Given the description of an element on the screen output the (x, y) to click on. 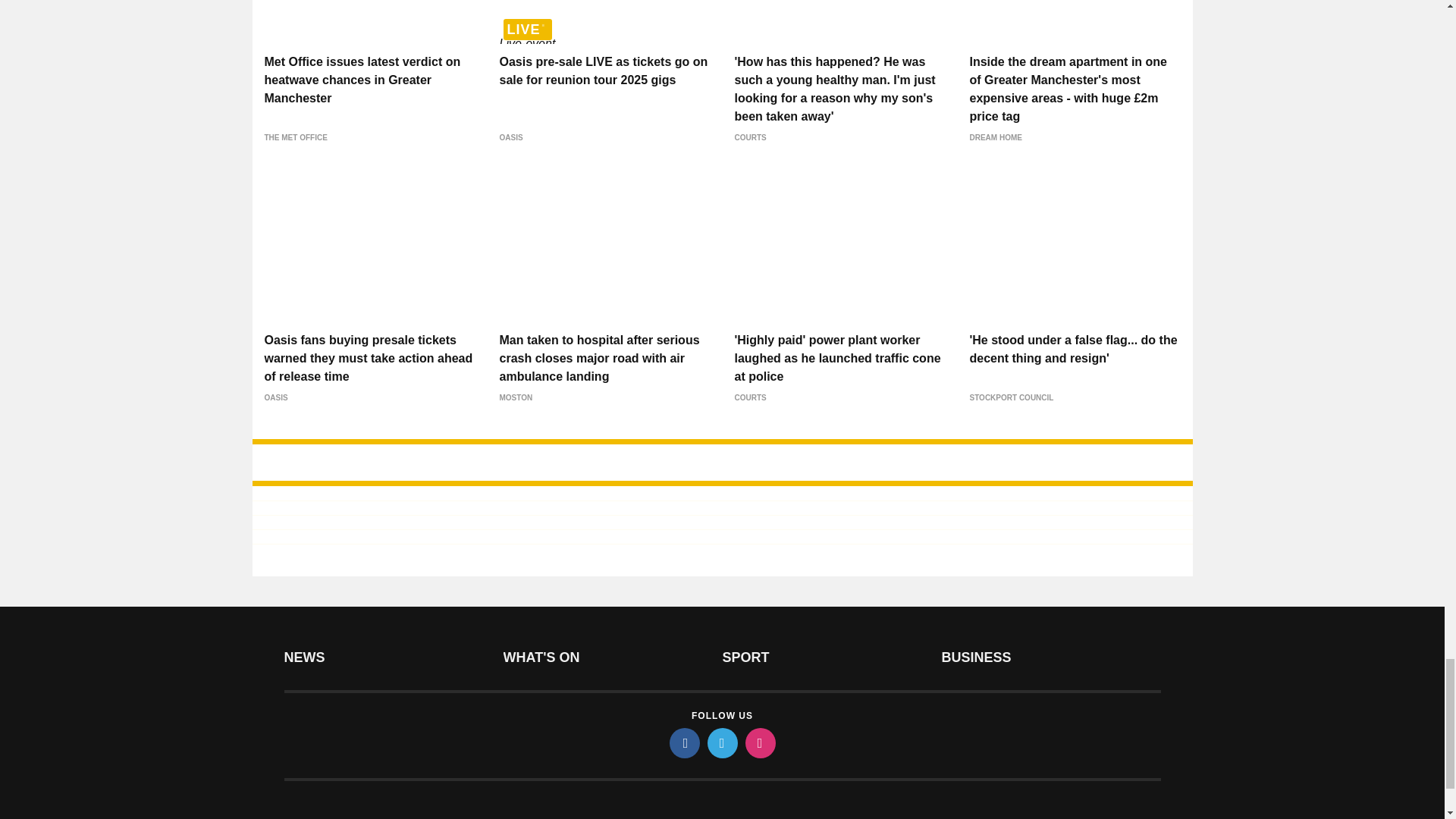
instagram (759, 743)
facebook (683, 743)
twitter (721, 743)
